Given the description of an element on the screen output the (x, y) to click on. 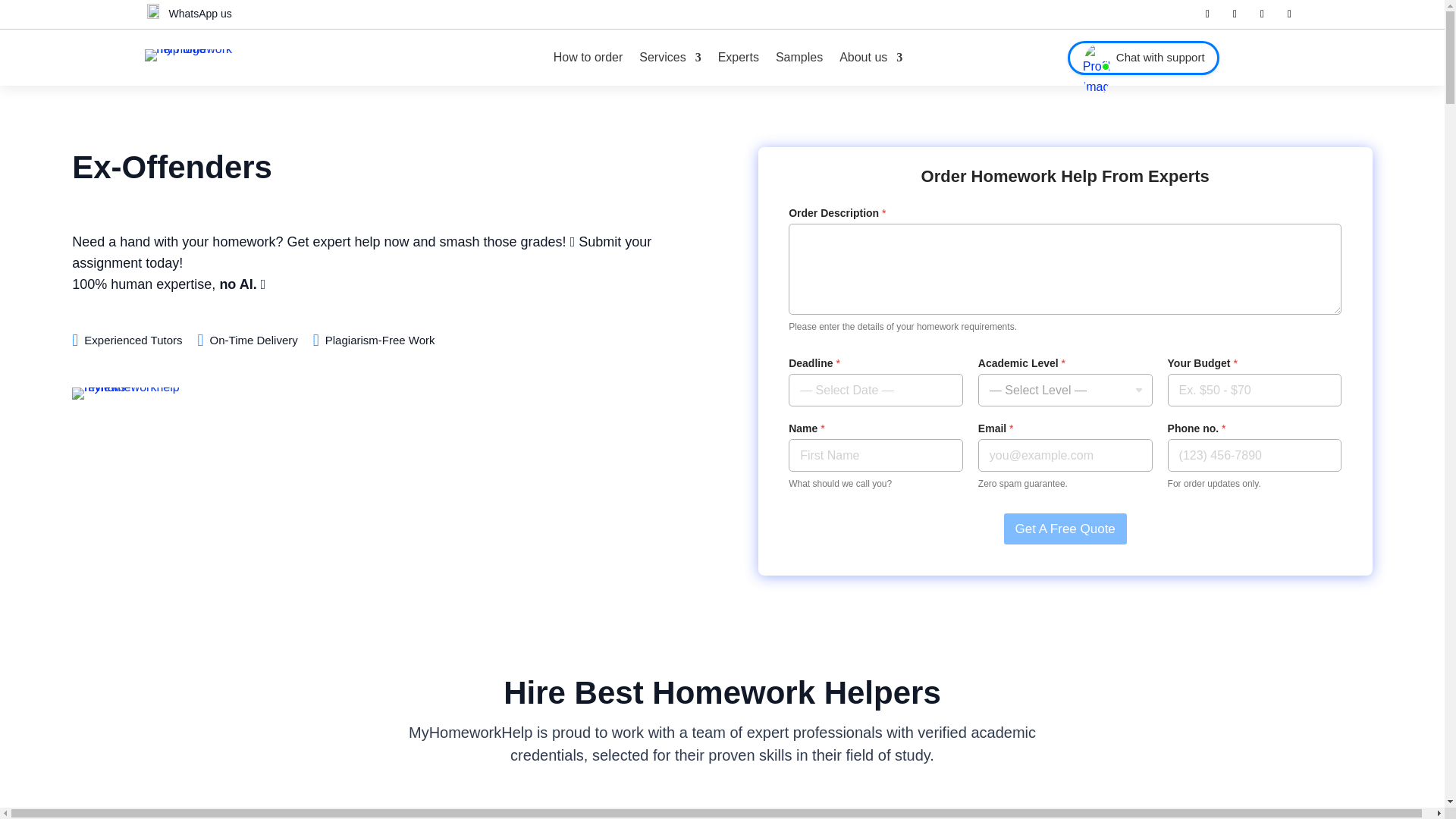
Experts (737, 57)
Follow on X (1234, 14)
univ logos-2 (964, 813)
Follow on Facebook (1206, 14)
social reviews (139, 393)
Services (669, 57)
Follow on Instagram (1289, 14)
How to order (588, 57)
Hero-Logo (193, 55)
Follow on LinkedIn (1261, 14)
univ logos-1 (721, 813)
